Given the description of an element on the screen output the (x, y) to click on. 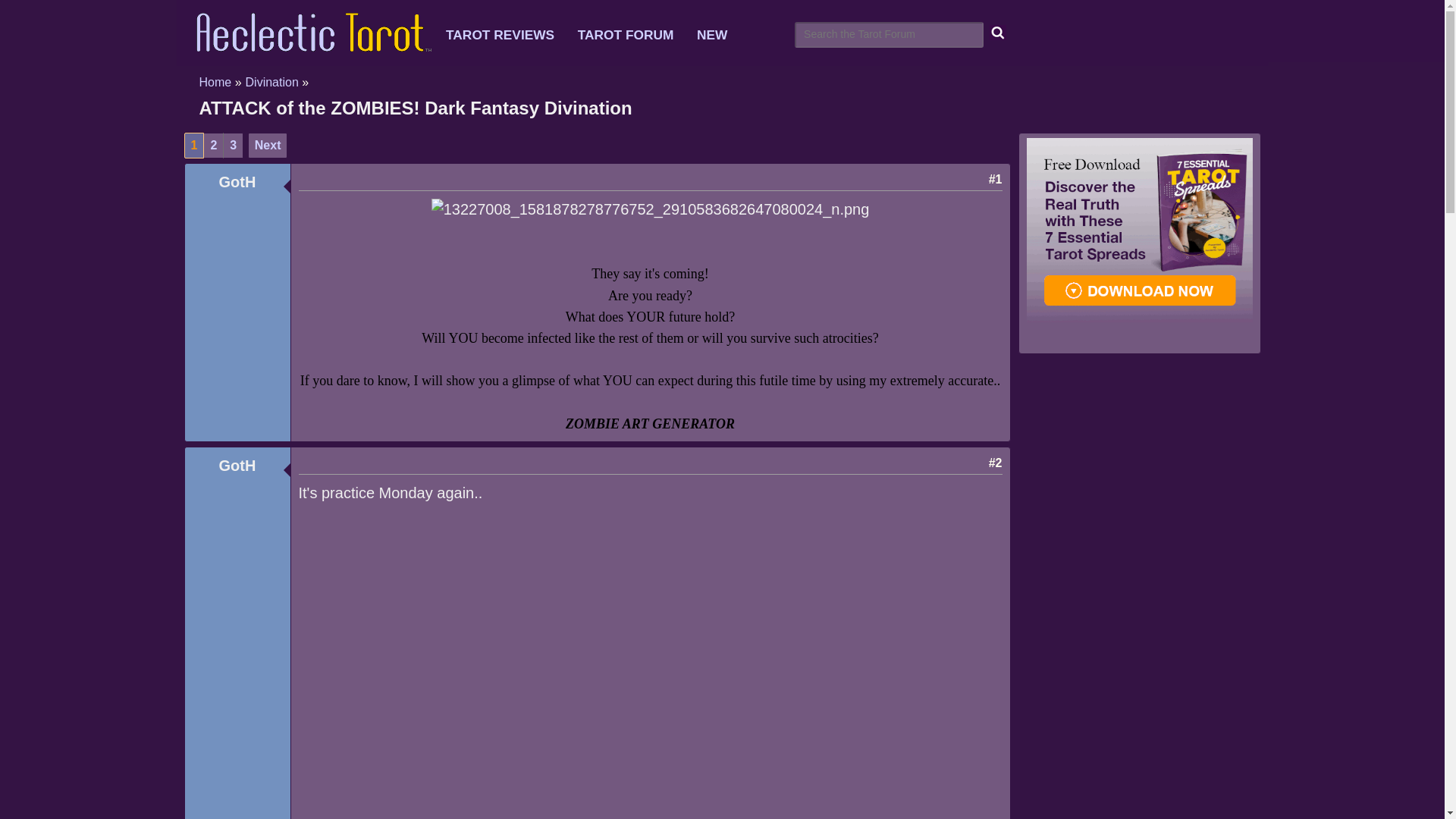
TAROT FORUM (635, 34)
NEW (721, 34)
Home (214, 82)
Divination (272, 82)
TAROT REVIEWS (509, 34)
Next (267, 145)
